Given the description of an element on the screen output the (x, y) to click on. 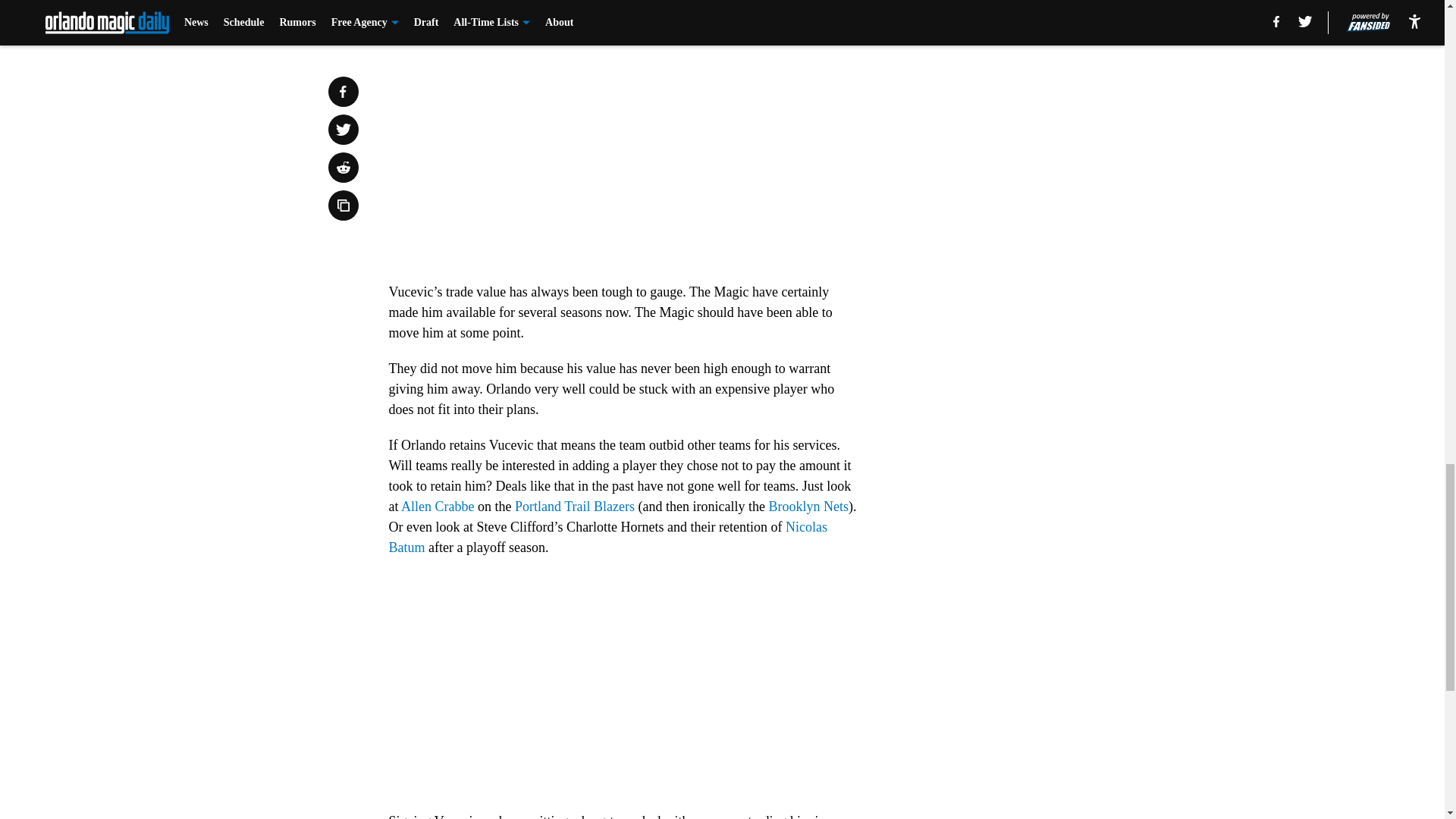
Allen Crabbe (437, 506)
Nicolas Batum (607, 537)
Portland Trail Blazers (574, 506)
Brooklyn Nets (808, 506)
